Given the description of an element on the screen output the (x, y) to click on. 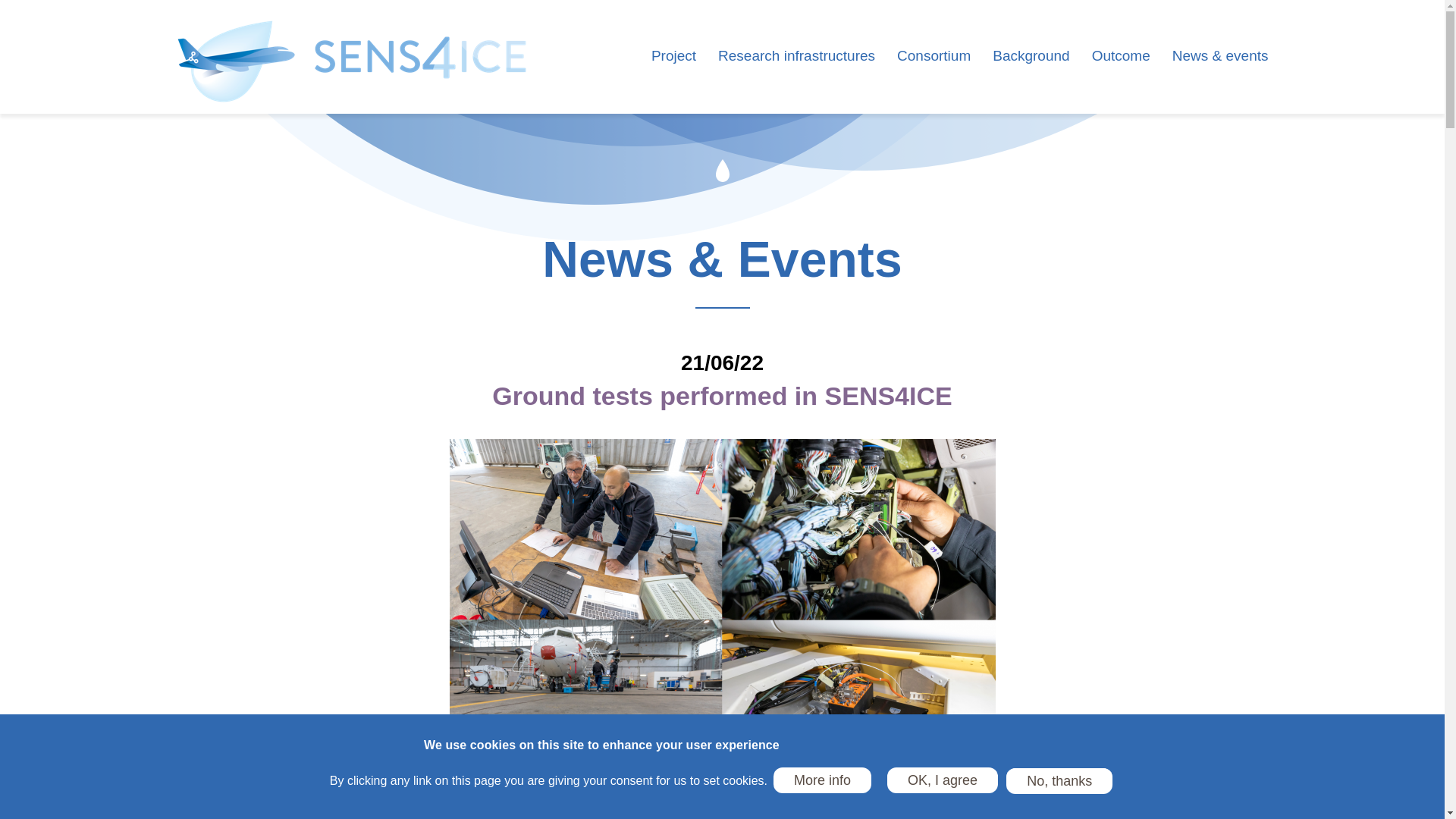
Background (1031, 77)
Research infrastructures (796, 77)
Consortium (933, 77)
Sens4ice (353, 63)
Project (673, 77)
Research infrastructures (796, 77)
Outcome (1120, 77)
Background (1031, 77)
Project (673, 77)
